Given the description of an element on the screen output the (x, y) to click on. 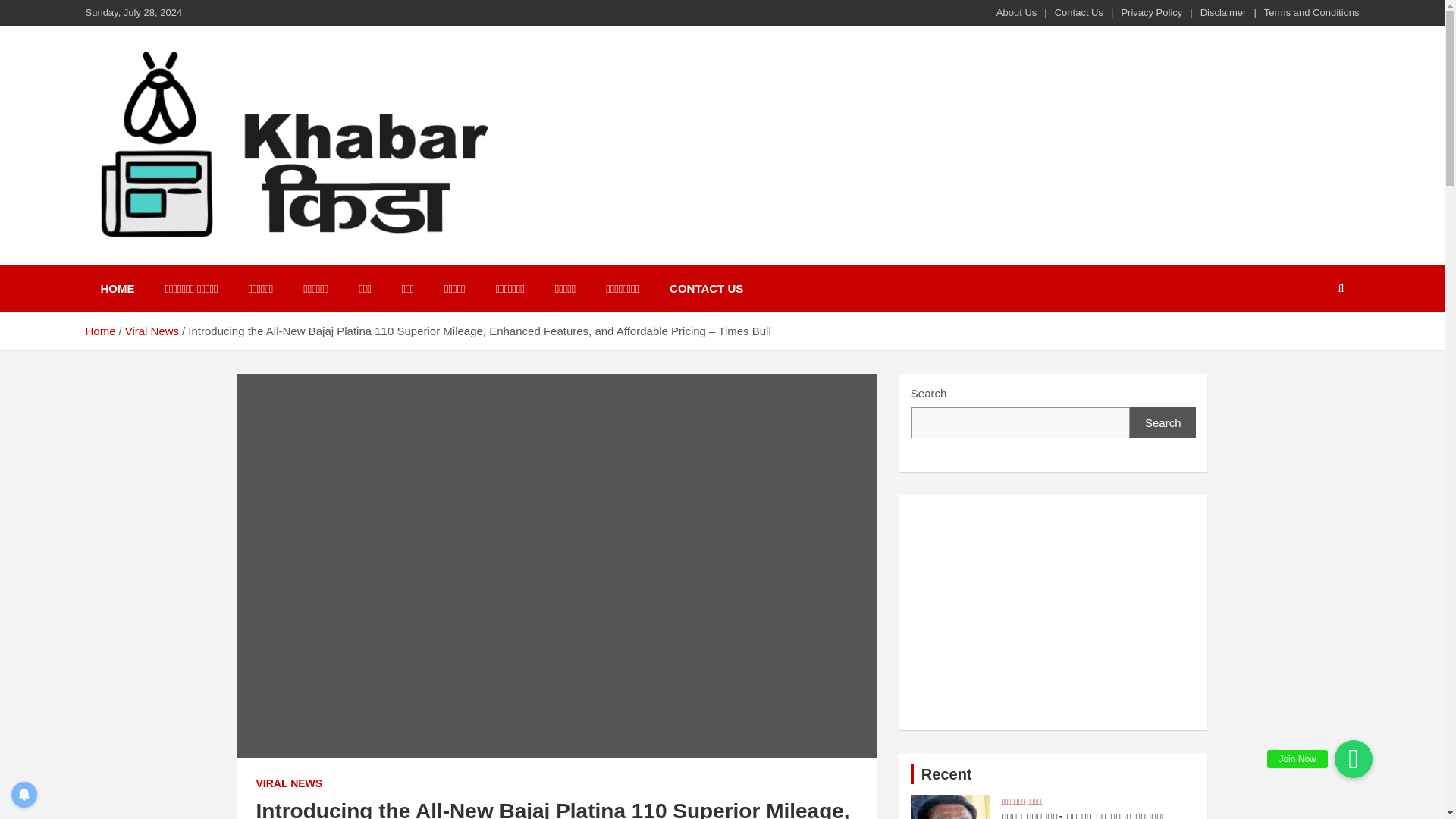
HOME (116, 288)
Contact Us (1078, 12)
Home (99, 330)
Viral News (152, 330)
Disclaimer (1222, 12)
Privacy Policy (1151, 12)
KhabarKeeda (182, 262)
Terms and Conditions (1311, 12)
Advertisement (1053, 612)
CONTACT US (705, 288)
VIRAL NEWS (289, 783)
About Us (1015, 12)
